Given the description of an element on the screen output the (x, y) to click on. 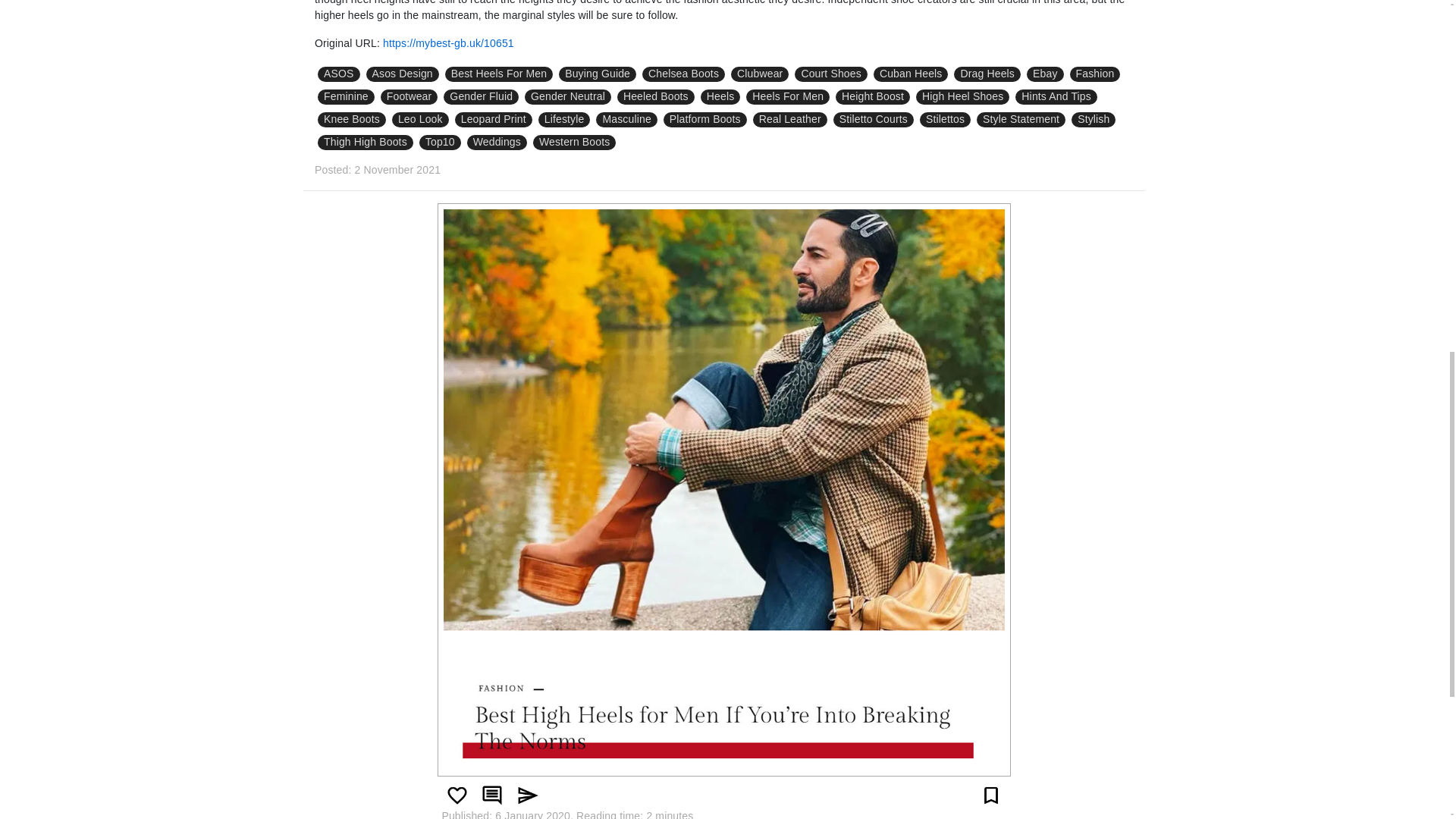
Comment on Instagram (491, 794)
Cuban Heels (911, 73)
Share on Instagram (526, 794)
Buying Guide (597, 73)
Save on Instagram (991, 794)
Best Heels For Men (499, 73)
Gender Neutral (567, 96)
Drag Heels (986, 73)
Heels (720, 96)
ASOS (338, 73)
Ebay (1045, 73)
Asos Design (402, 73)
Knee Boots (351, 119)
Heeled Boots (655, 96)
Masculine (625, 119)
